Given the description of an element on the screen output the (x, y) to click on. 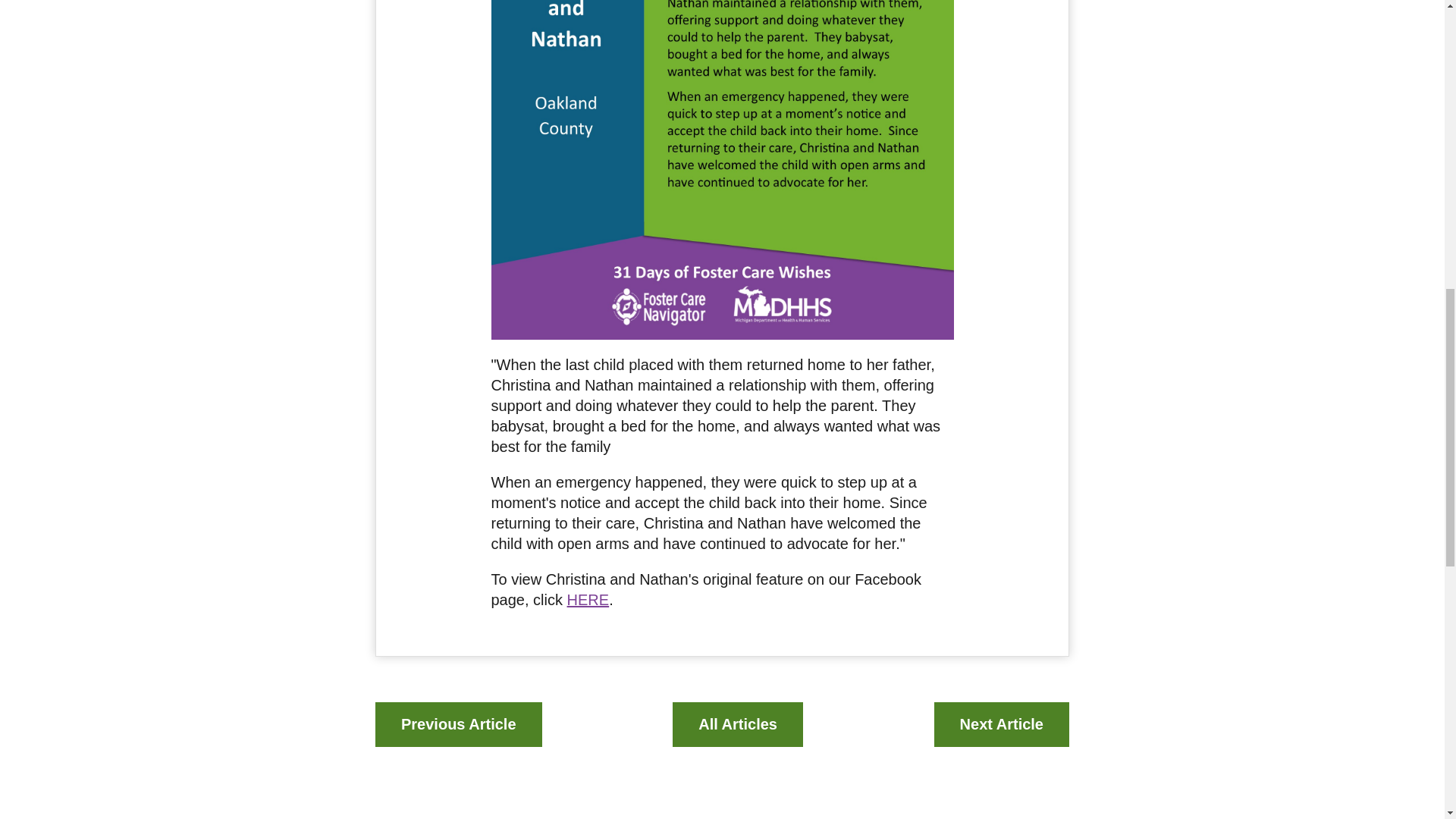
HERE (588, 599)
All Articles (737, 723)
Previous Article (458, 723)
Christina and Nathan's Facebook Post (588, 599)
Next Article (1001, 723)
